Given the description of an element on the screen output the (x, y) to click on. 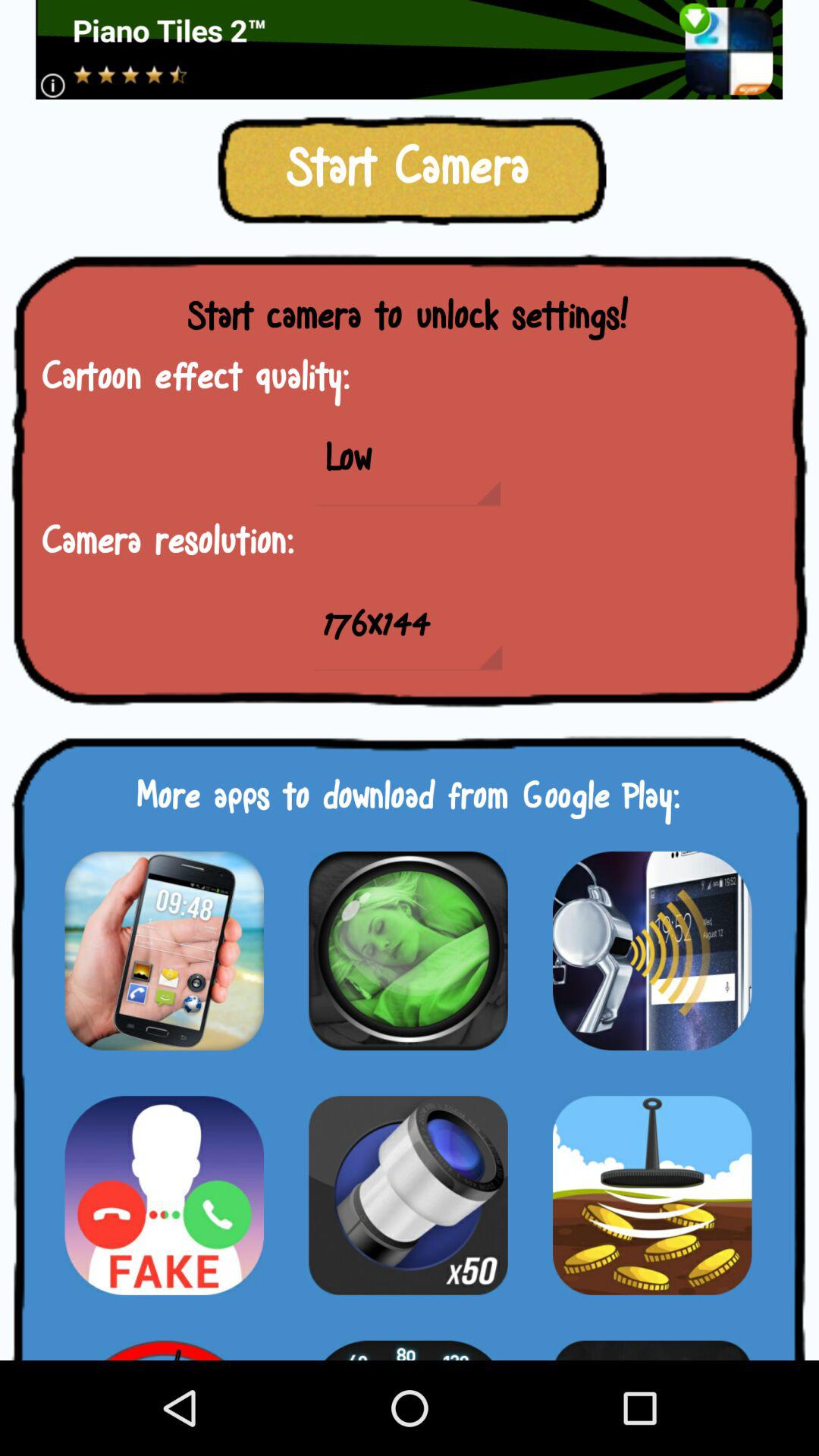
advertisement for app (408, 950)
